Given the description of an element on the screen output the (x, y) to click on. 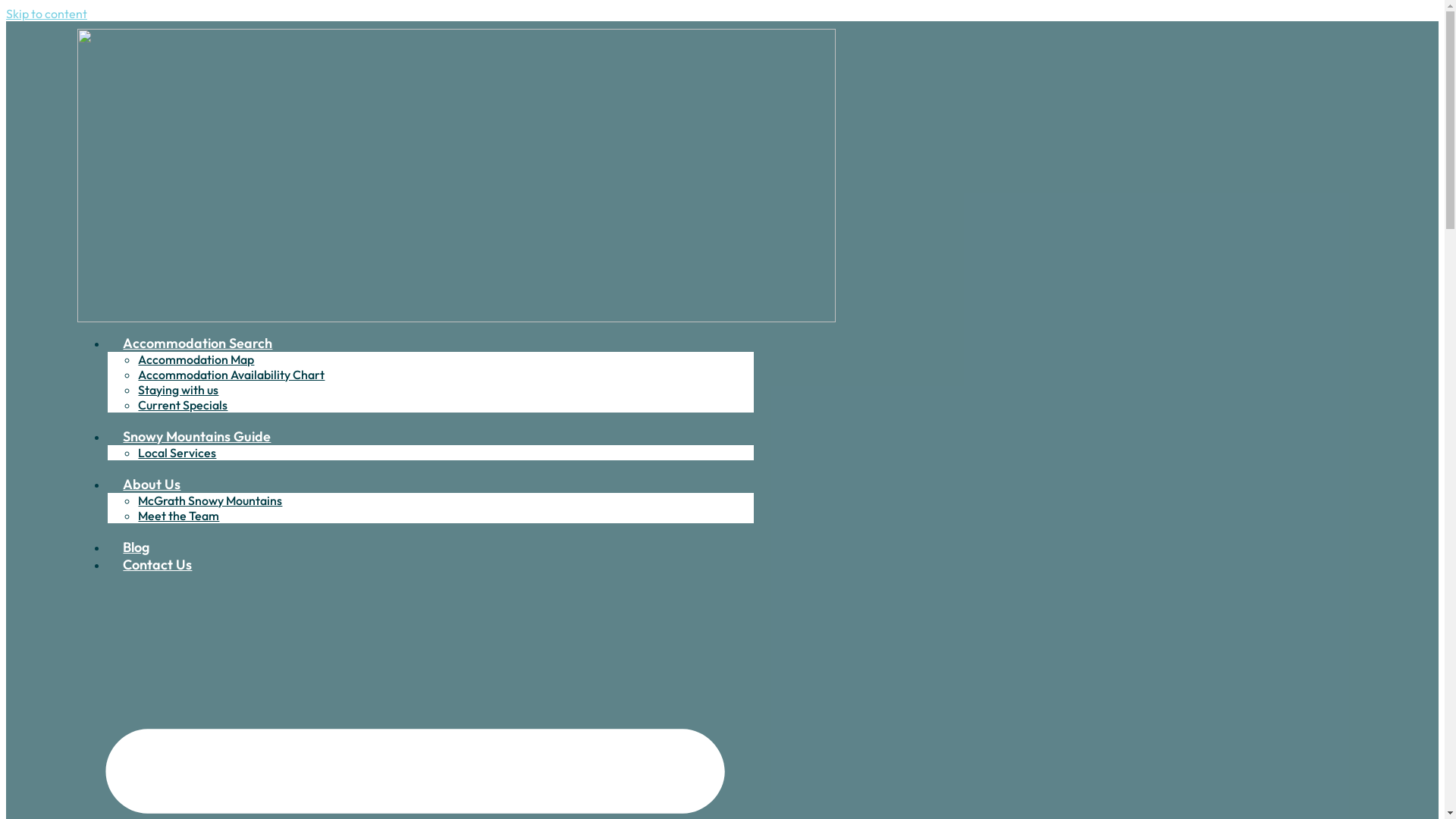
Staying with us Element type: text (178, 389)
Contact Us Element type: text (157, 564)
Snowy Mountains Guide Element type: text (196, 436)
Meet the Team Element type: text (178, 515)
Local Services Element type: text (177, 452)
Current Specials Element type: text (182, 404)
Skip to content Element type: text (46, 13)
Accommodation Search Element type: text (197, 342)
Accommodation Map Element type: text (196, 359)
About Us Element type: text (151, 483)
Blog Element type: text (135, 546)
Accommodation Availability Chart Element type: text (231, 374)
McGrath Snowy Mountains Element type: text (210, 500)
